Given the description of an element on the screen output the (x, y) to click on. 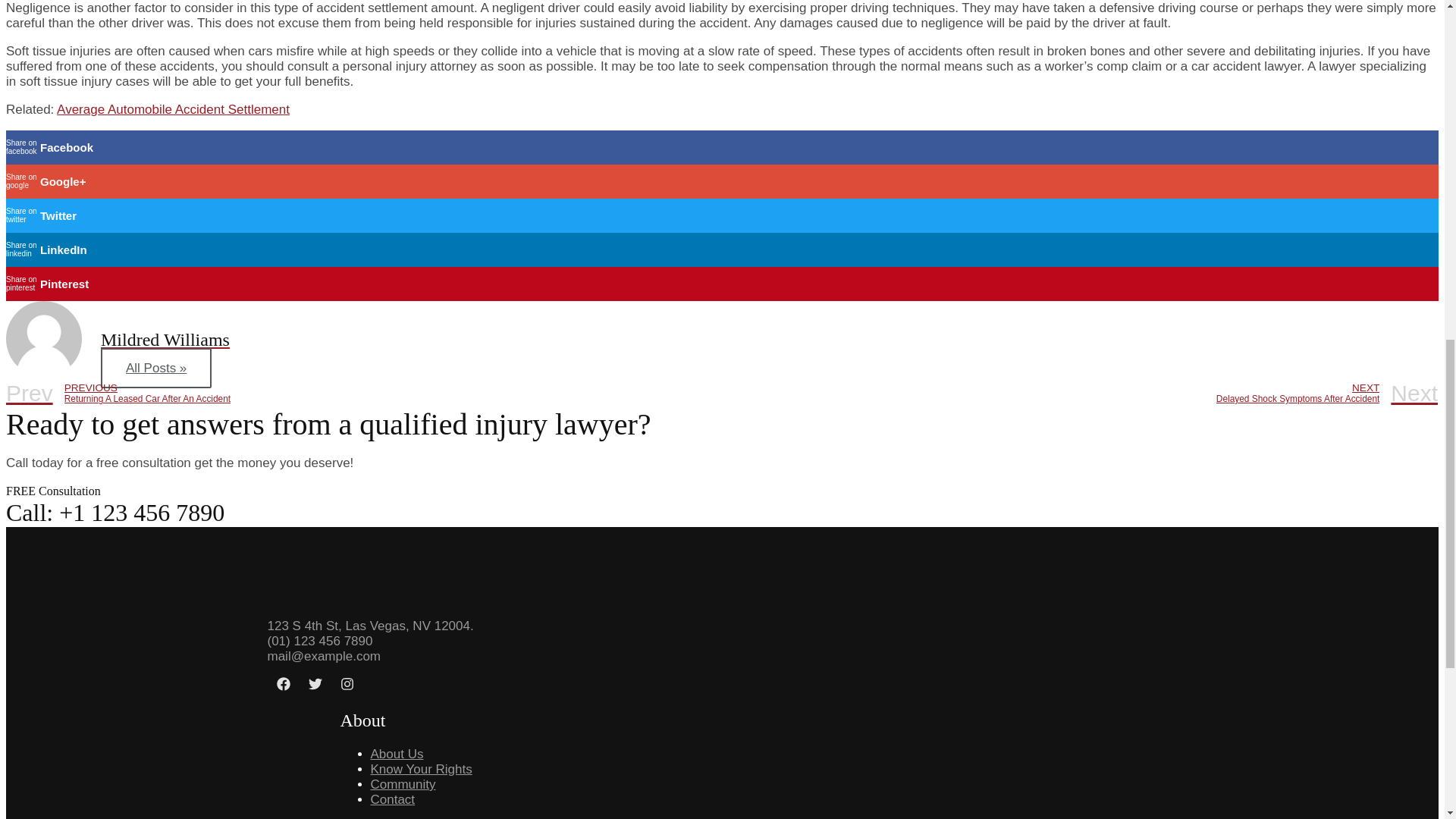
Know Your Rights (420, 769)
About Us (363, 393)
Contact (396, 753)
Community (391, 799)
Average Automobile Accident Settlement (402, 784)
